Given the description of an element on the screen output the (x, y) to click on. 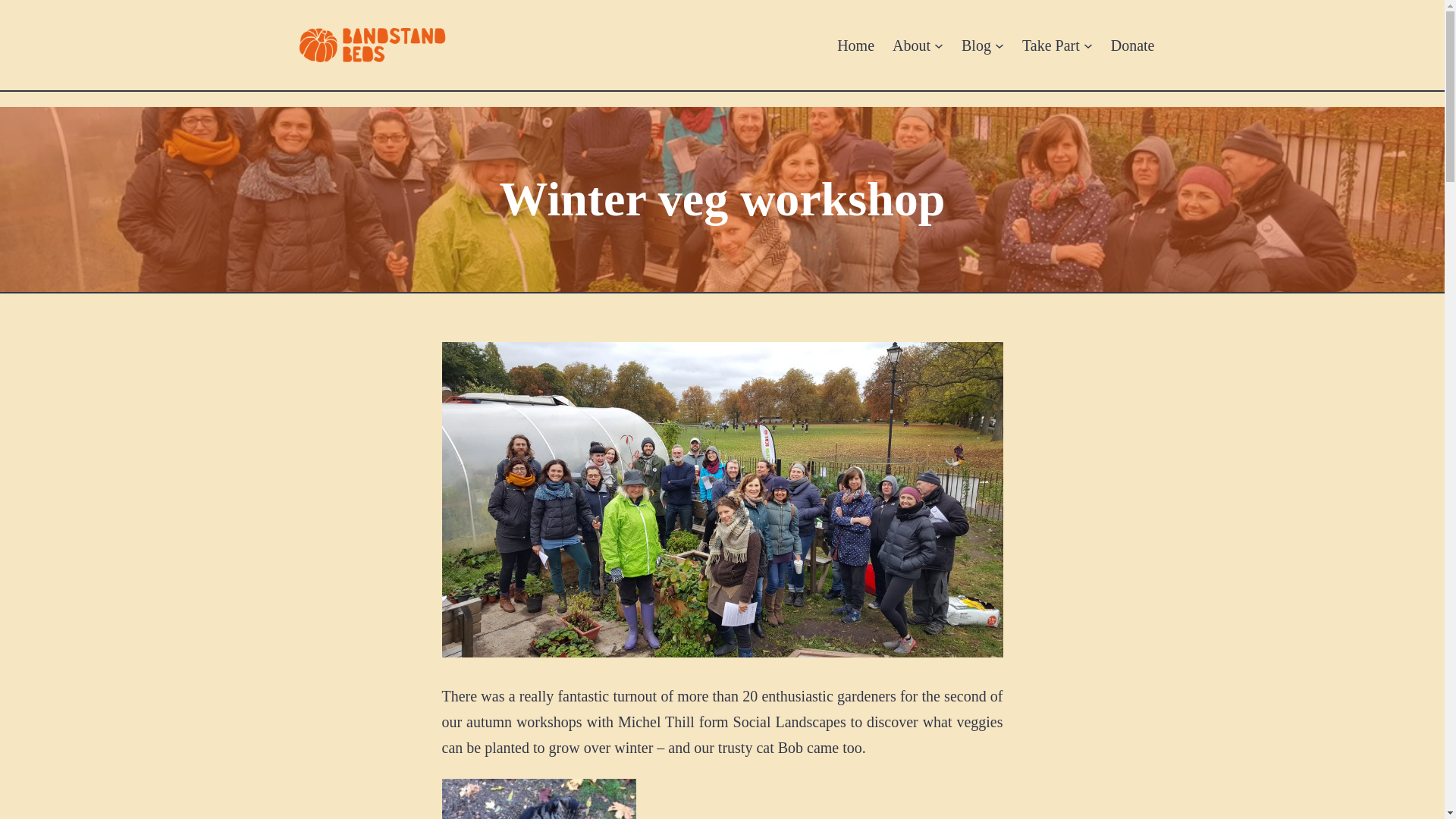
Donate (1132, 44)
Blog (975, 44)
About (911, 44)
Take Part (1051, 44)
Home (856, 44)
